Given the description of an element on the screen output the (x, y) to click on. 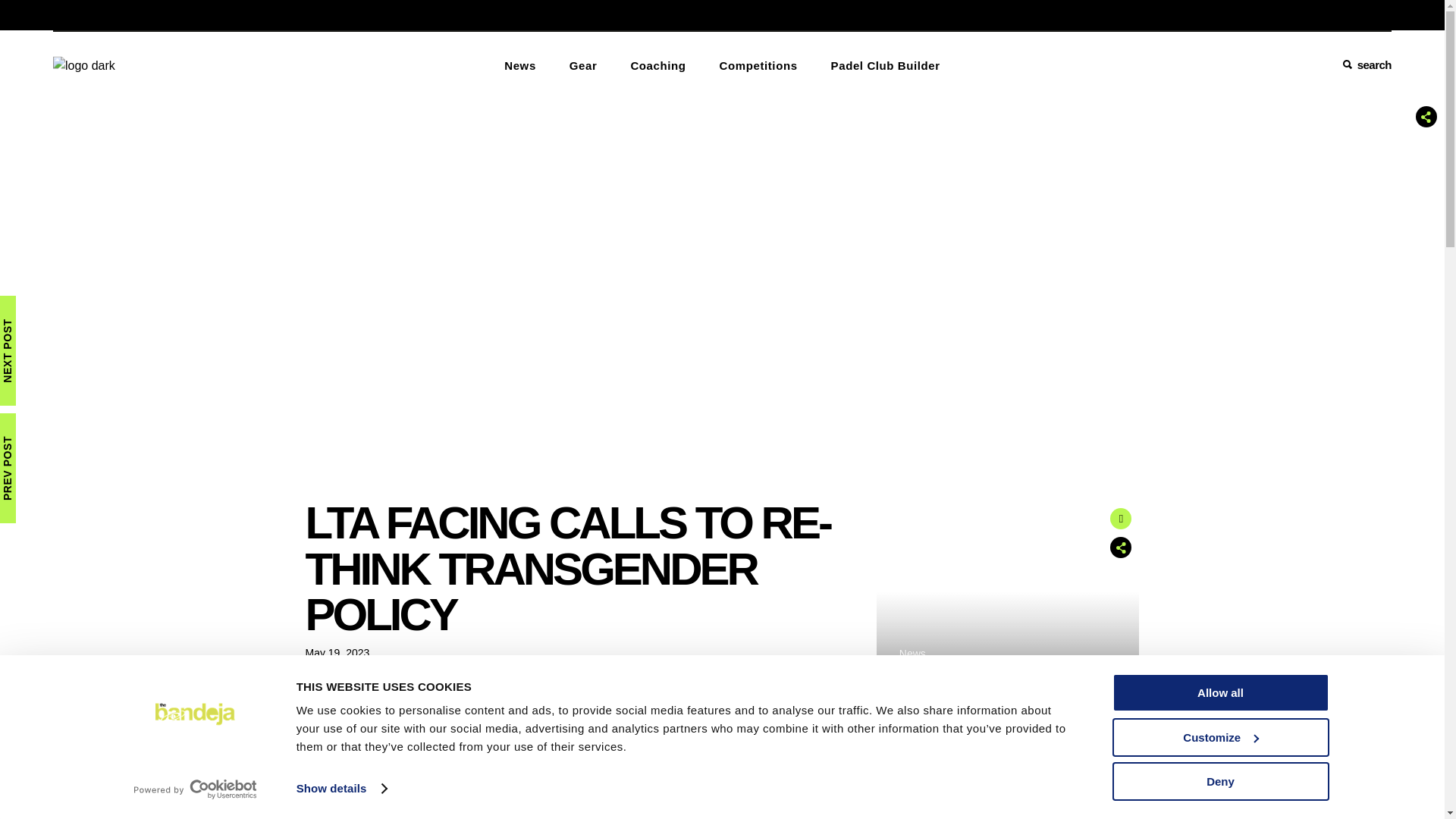
subscribe (206, 14)
about us (71, 14)
Title Text:  (336, 652)
Show details (341, 788)
Allow all (1219, 692)
Customize (1219, 736)
contact us (137, 14)
Deny (1219, 781)
